Given the description of an element on the screen output the (x, y) to click on. 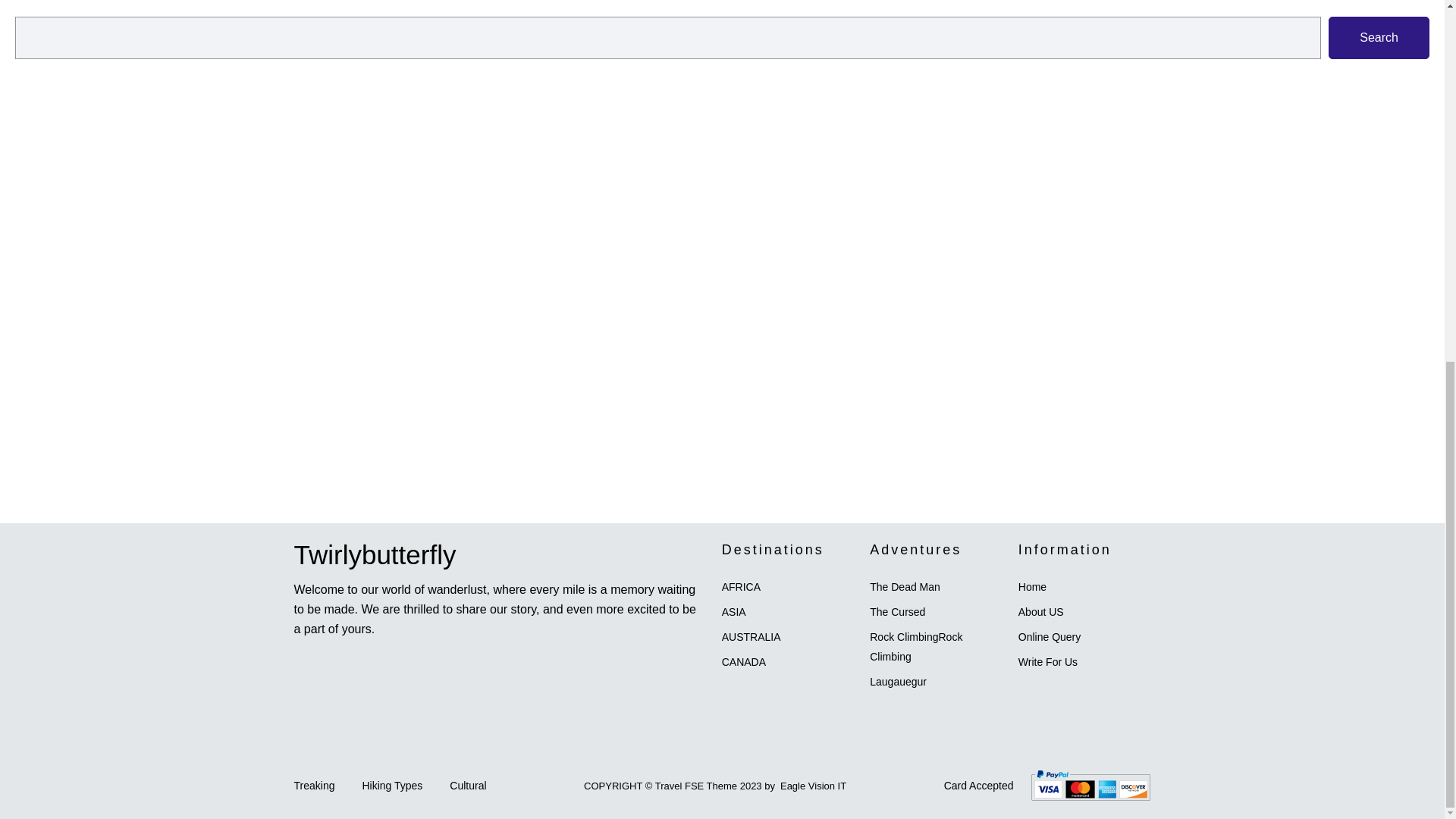
CANADA (743, 662)
ASIA (733, 612)
The Cursed (896, 612)
Search (1378, 37)
AFRICA (741, 586)
The Dead Man (904, 586)
Twirlybutterfly (375, 554)
Hiking Types (391, 785)
Laugauegur (897, 681)
Rock ClimbingRock Climbing (915, 646)
